Given the description of an element on the screen output the (x, y) to click on. 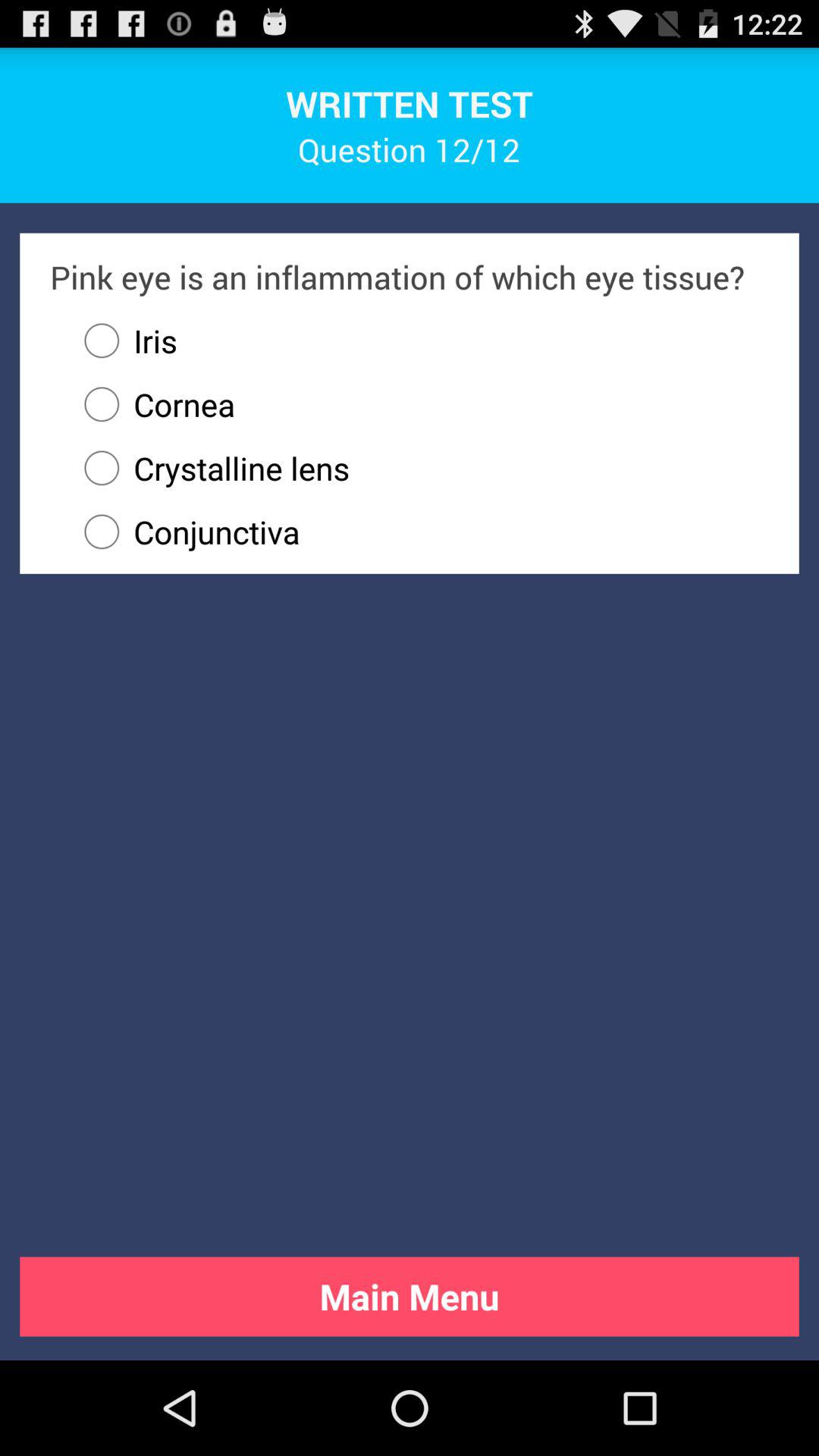
press icon below crystalline lens (418, 531)
